Given the description of an element on the screen output the (x, y) to click on. 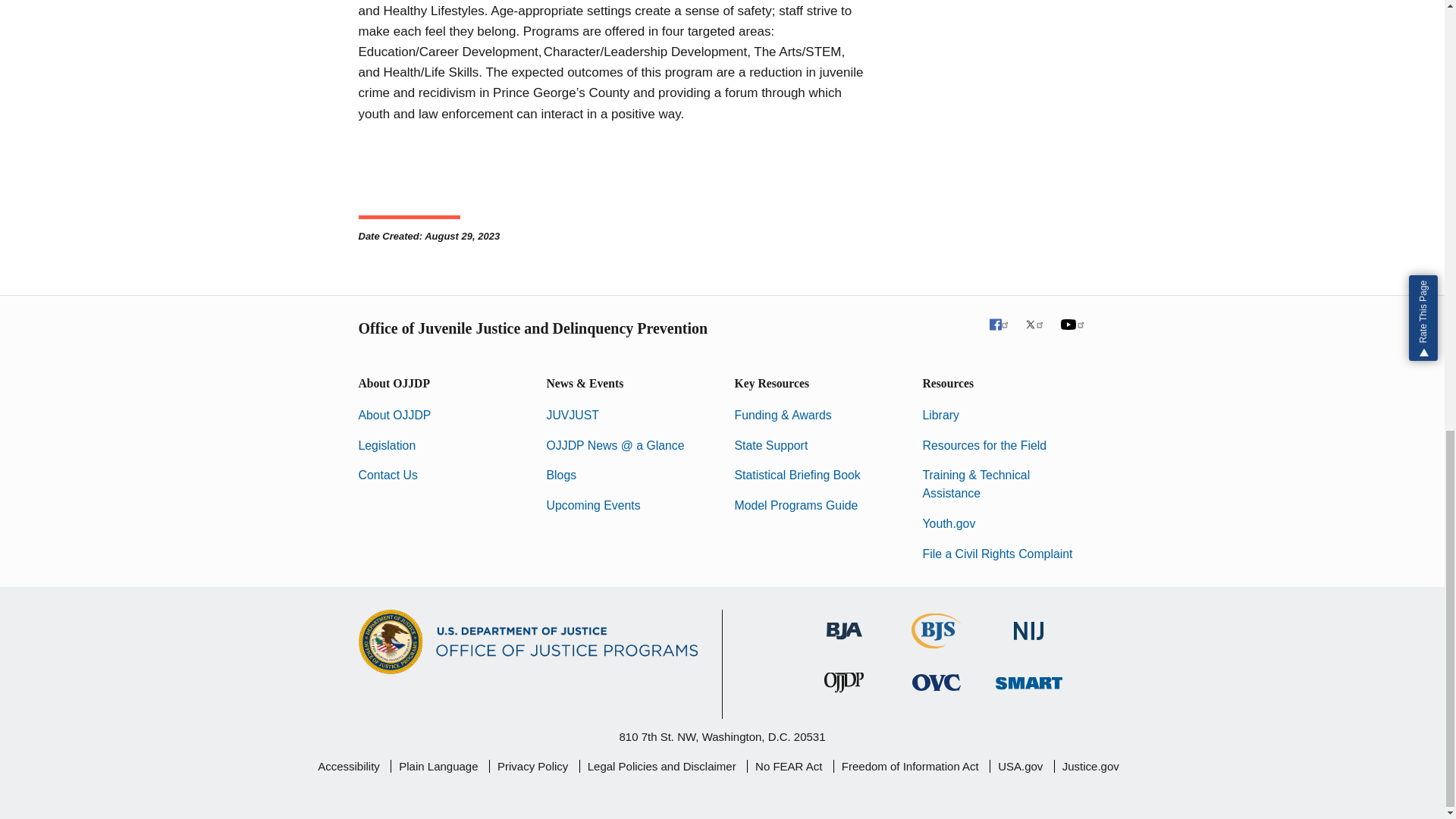
Legislation (386, 445)
Contact Us (387, 474)
About OJJDP (394, 414)
